Given the description of an element on the screen output the (x, y) to click on. 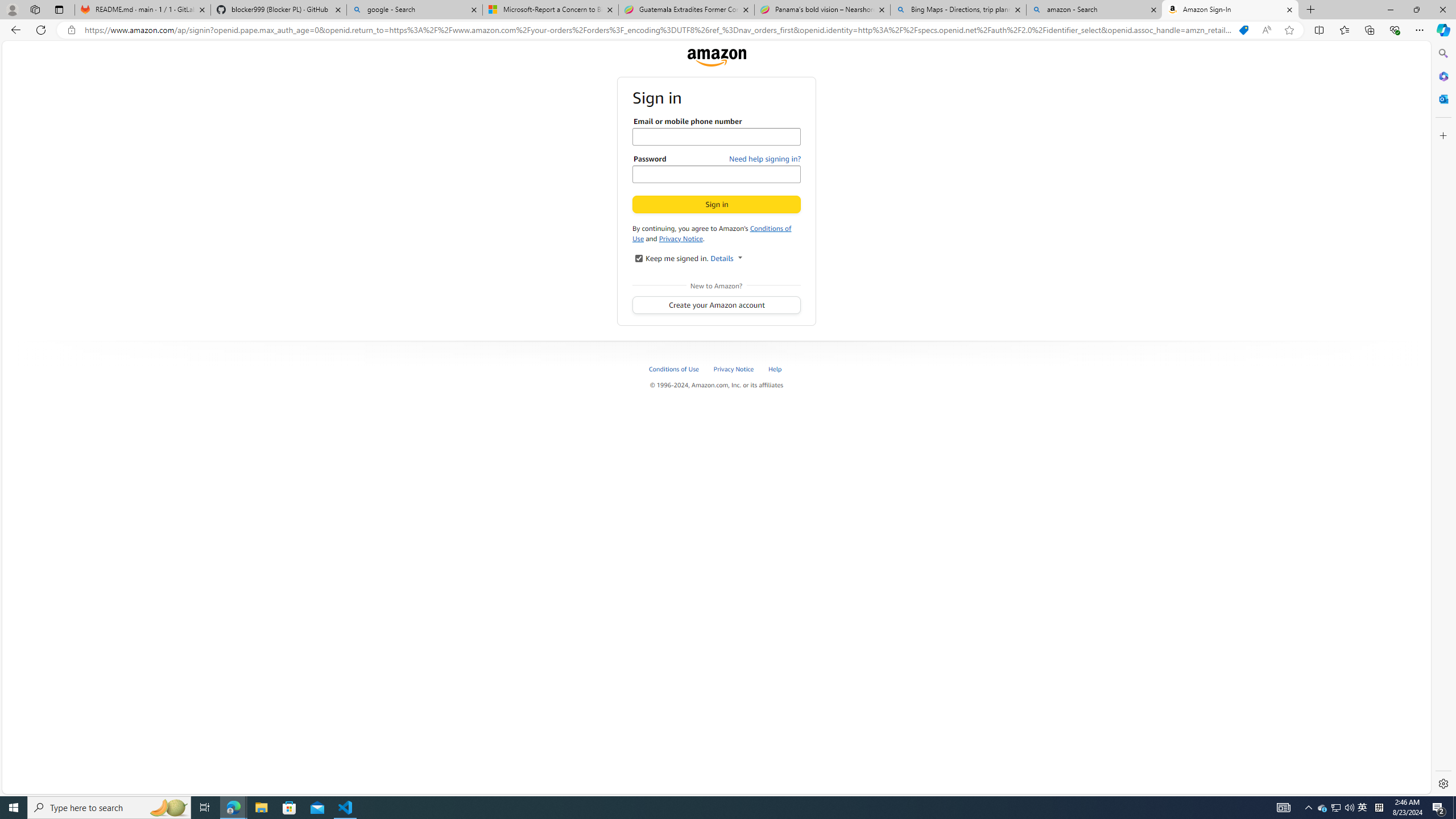
Amazon (716, 57)
Keep me signed in. Details (638, 257)
Create your Amazon account (716, 304)
